Given the description of an element on the screen output the (x, y) to click on. 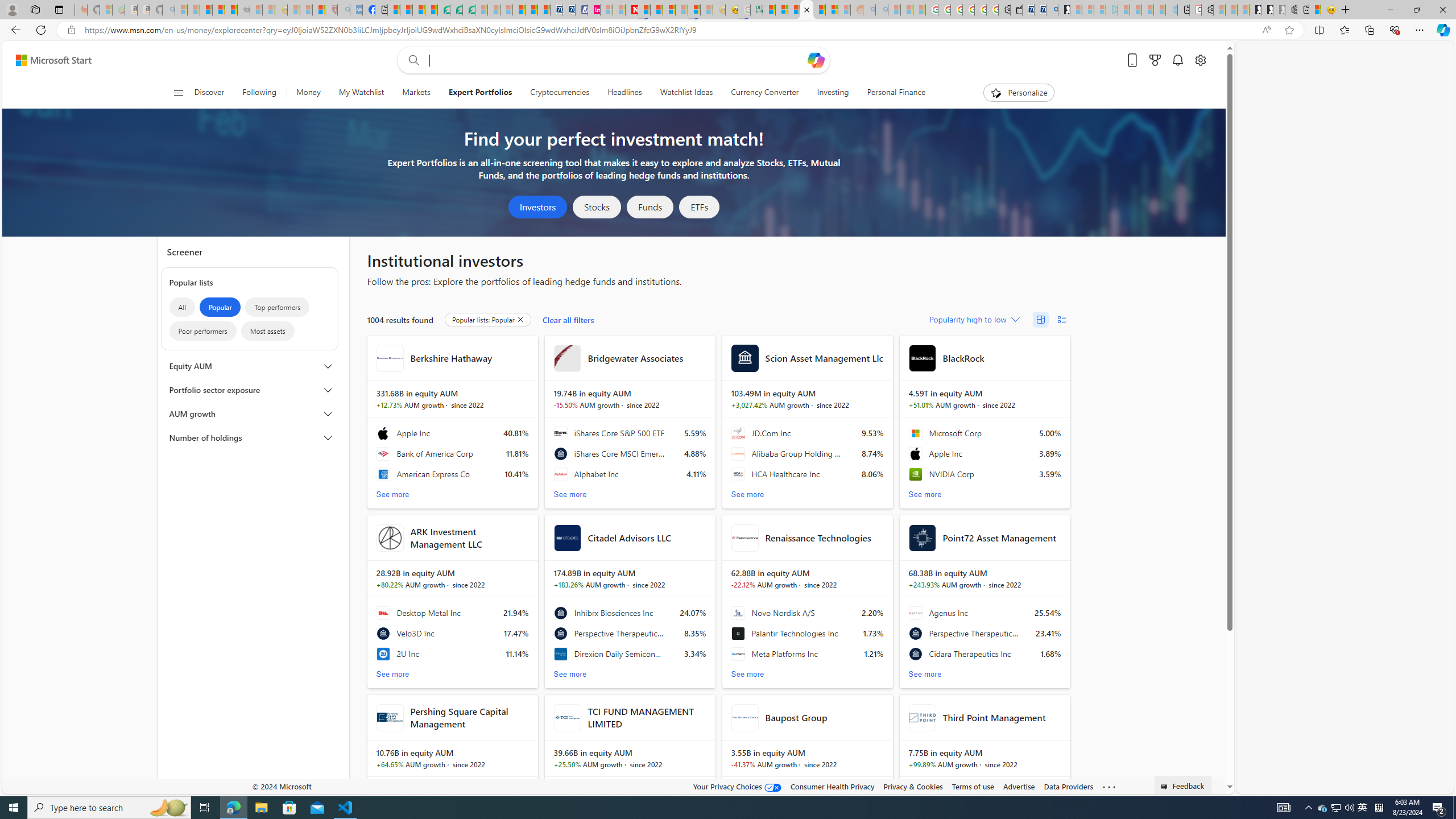
Class: feedback_link_icon-DS-EntryPoint1-1 (1165, 786)
Your Privacy Choices (737, 785)
Cheap Hotels - Save70.com (568, 9)
Personal Finance (896, 92)
Latest Politics News & Archive | Newsweek.com (631, 9)
